Given the description of an element on the screen output the (x, y) to click on. 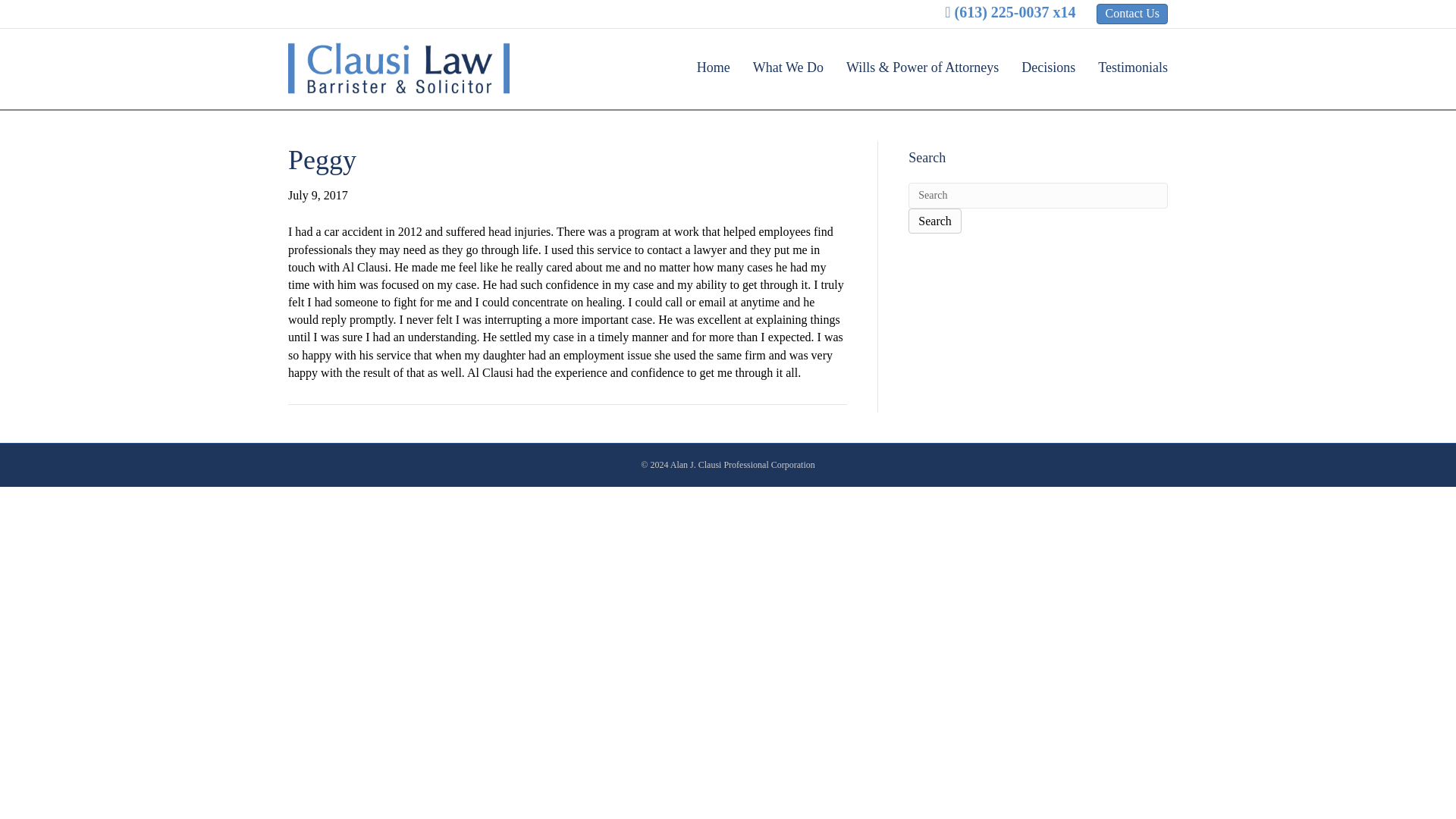
Search (934, 220)
Home (713, 67)
What We Do (787, 67)
Search (1037, 195)
Search (1037, 195)
Testimonials (1126, 67)
Contact Us (1131, 14)
Decisions (1048, 67)
Type and press Enter to search. (1037, 207)
